Given the description of an element on the screen output the (x, y) to click on. 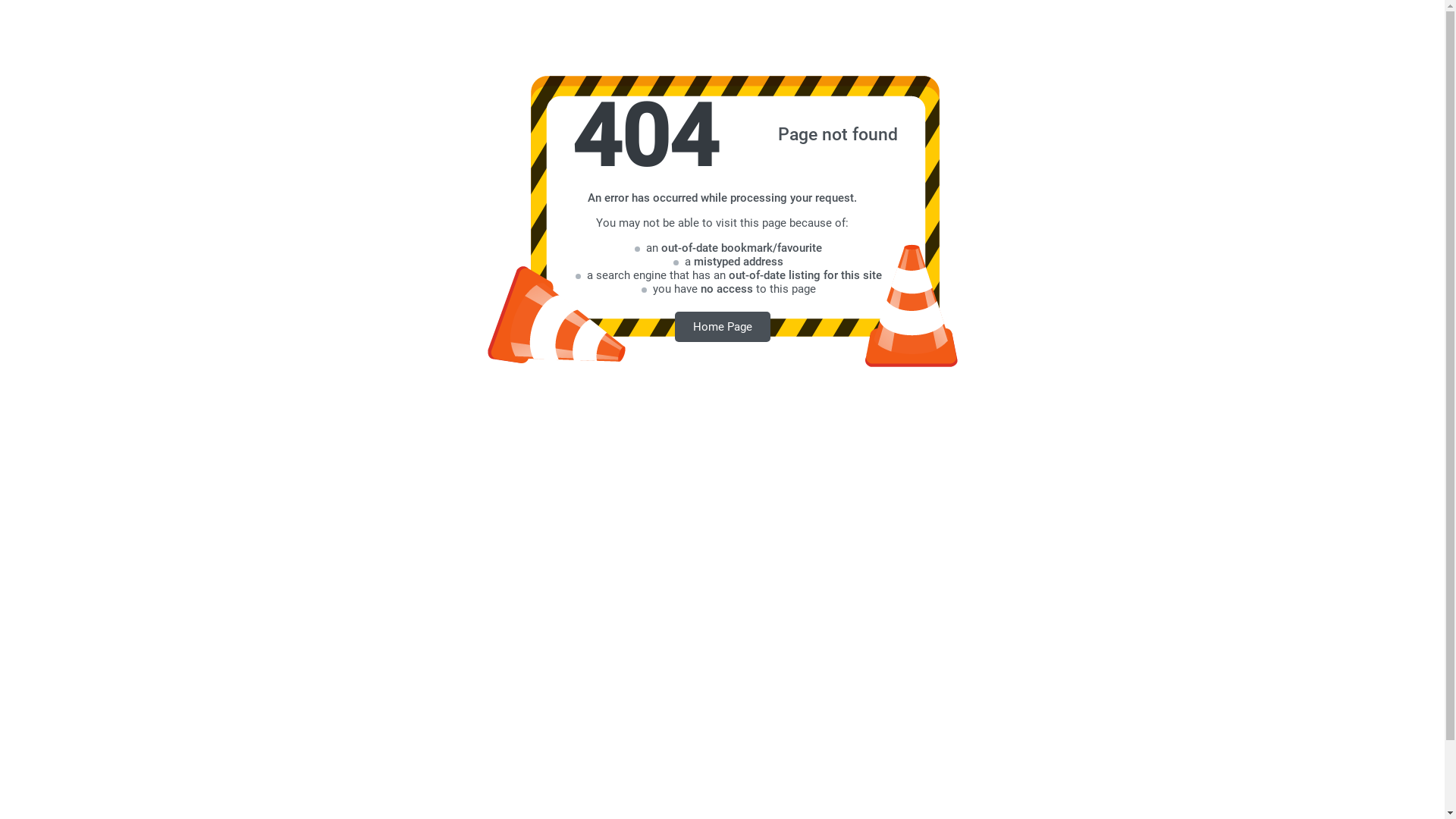
Home Page Element type: text (722, 326)
